Given the description of an element on the screen output the (x, y) to click on. 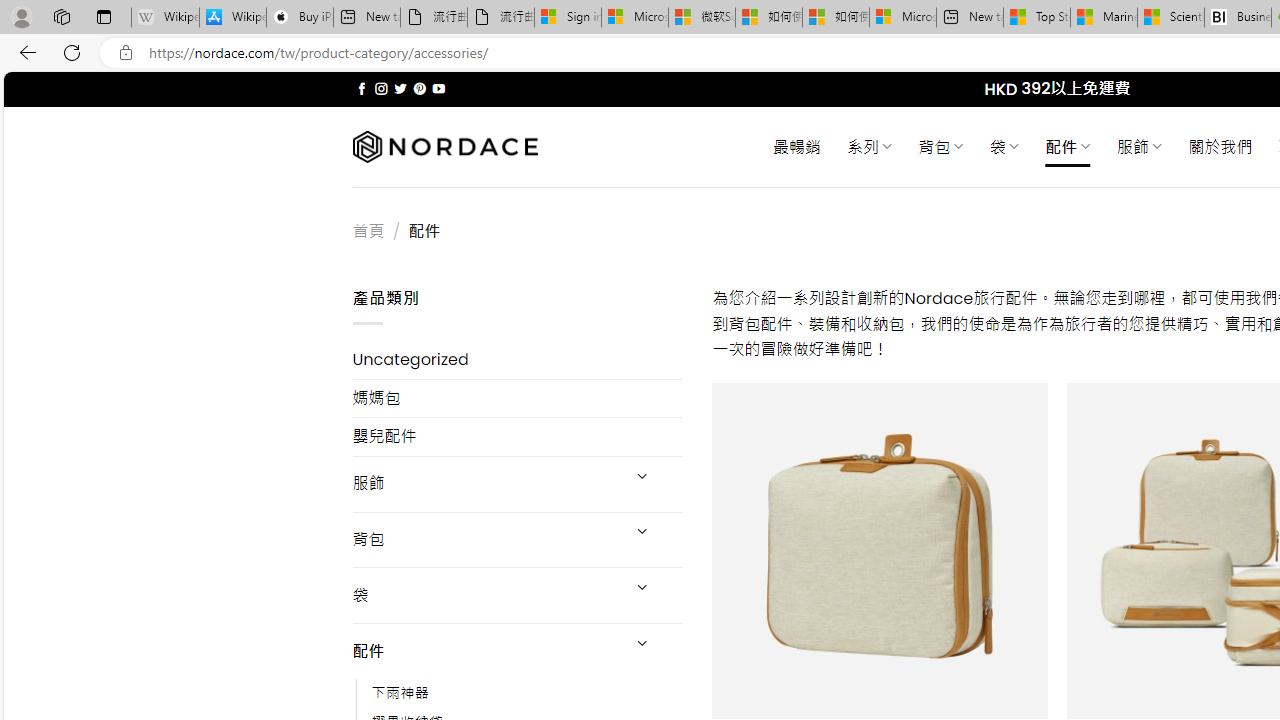
Buy iPad - Apple (299, 17)
Follow on Twitter (400, 88)
Uncategorized (517, 359)
Follow on Pinterest (419, 88)
